Given the description of an element on the screen output the (x, y) to click on. 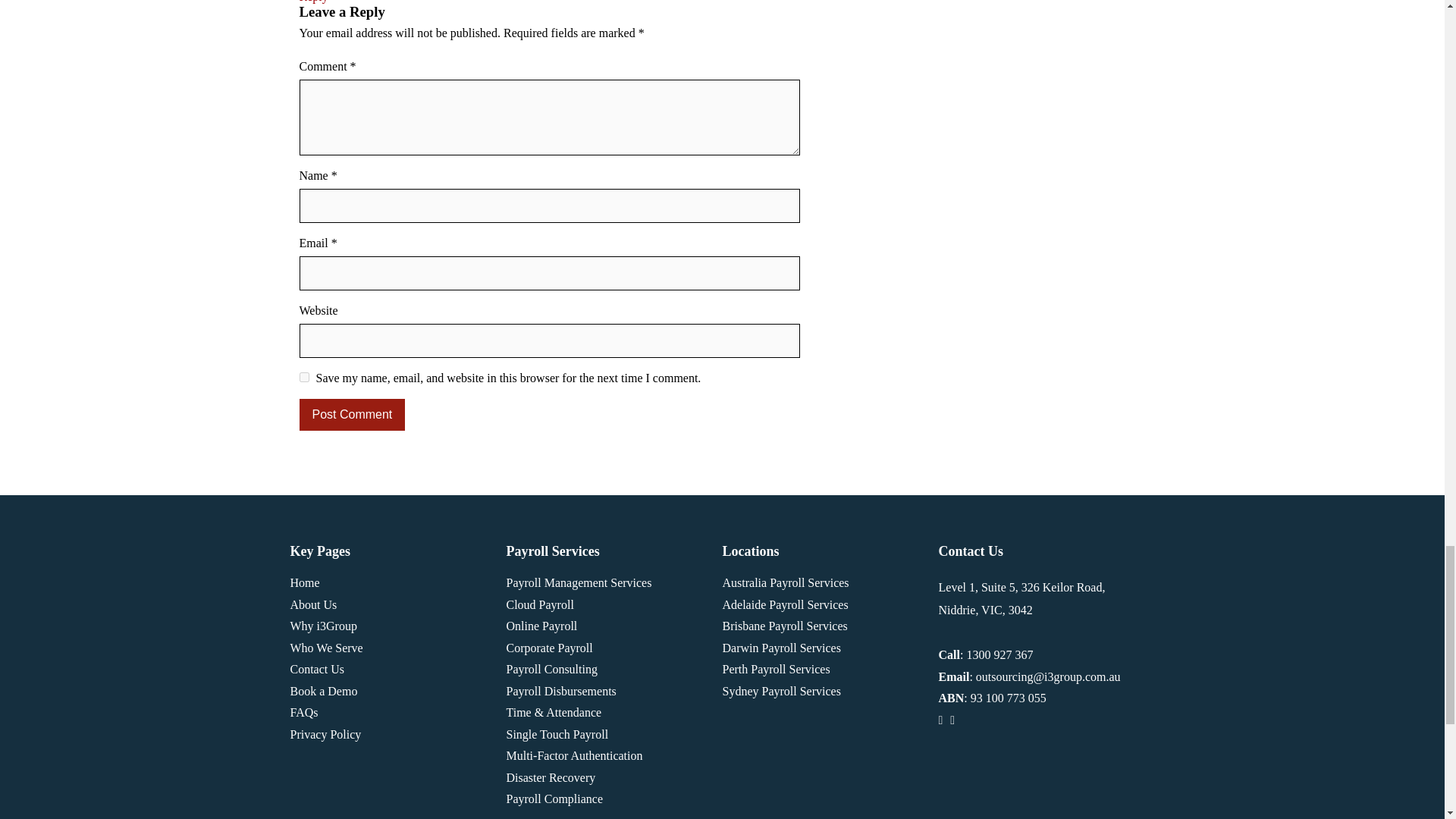
Post Comment (351, 414)
yes (303, 377)
